Given the description of an element on the screen output the (x, y) to click on. 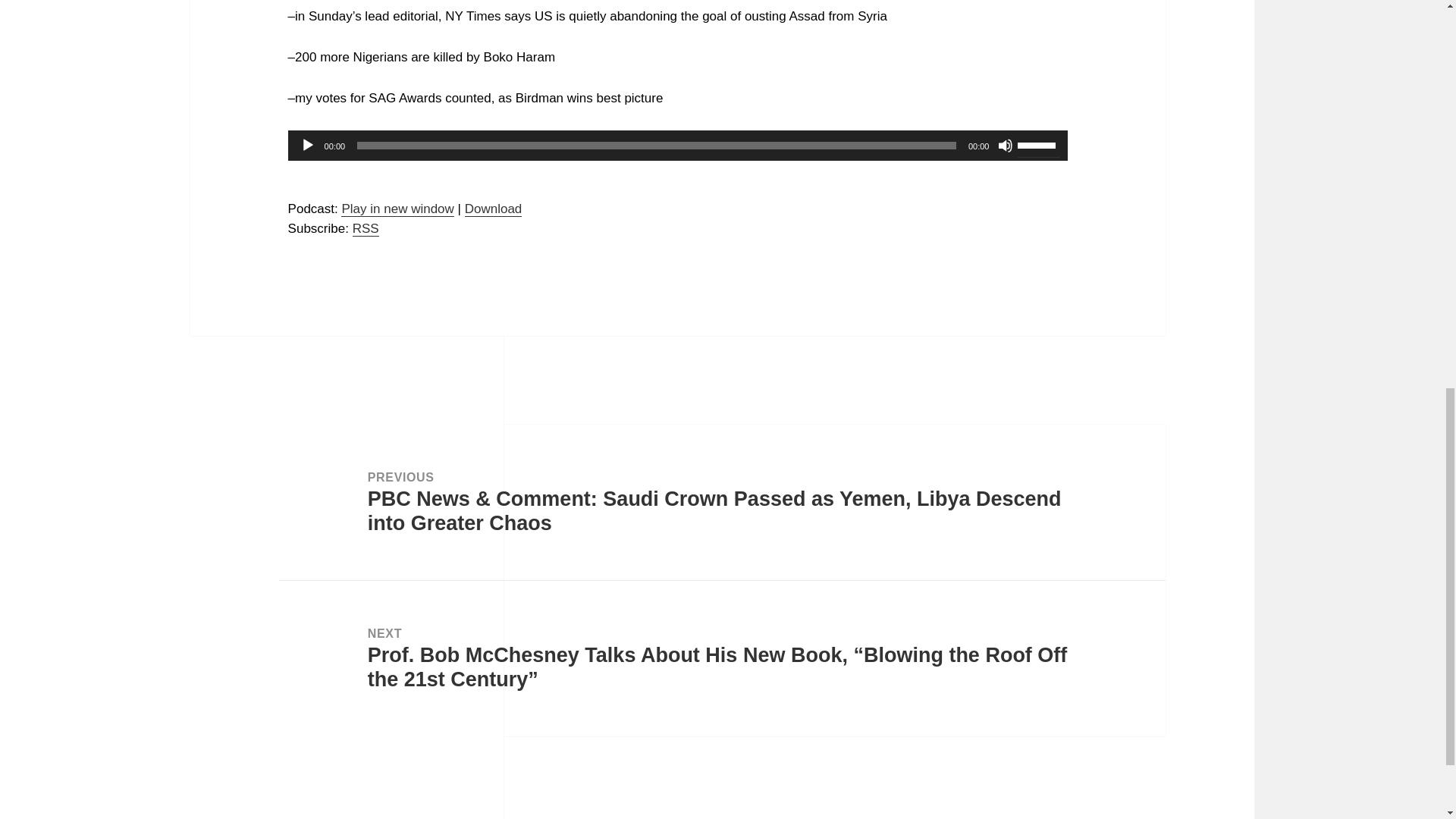
RSS (365, 228)
Mute (1005, 145)
Download (493, 209)
Play in new window (396, 209)
Subscribe via RSS (365, 228)
Play (307, 145)
Download (493, 209)
Play in new window (396, 209)
